Given the description of an element on the screen output the (x, y) to click on. 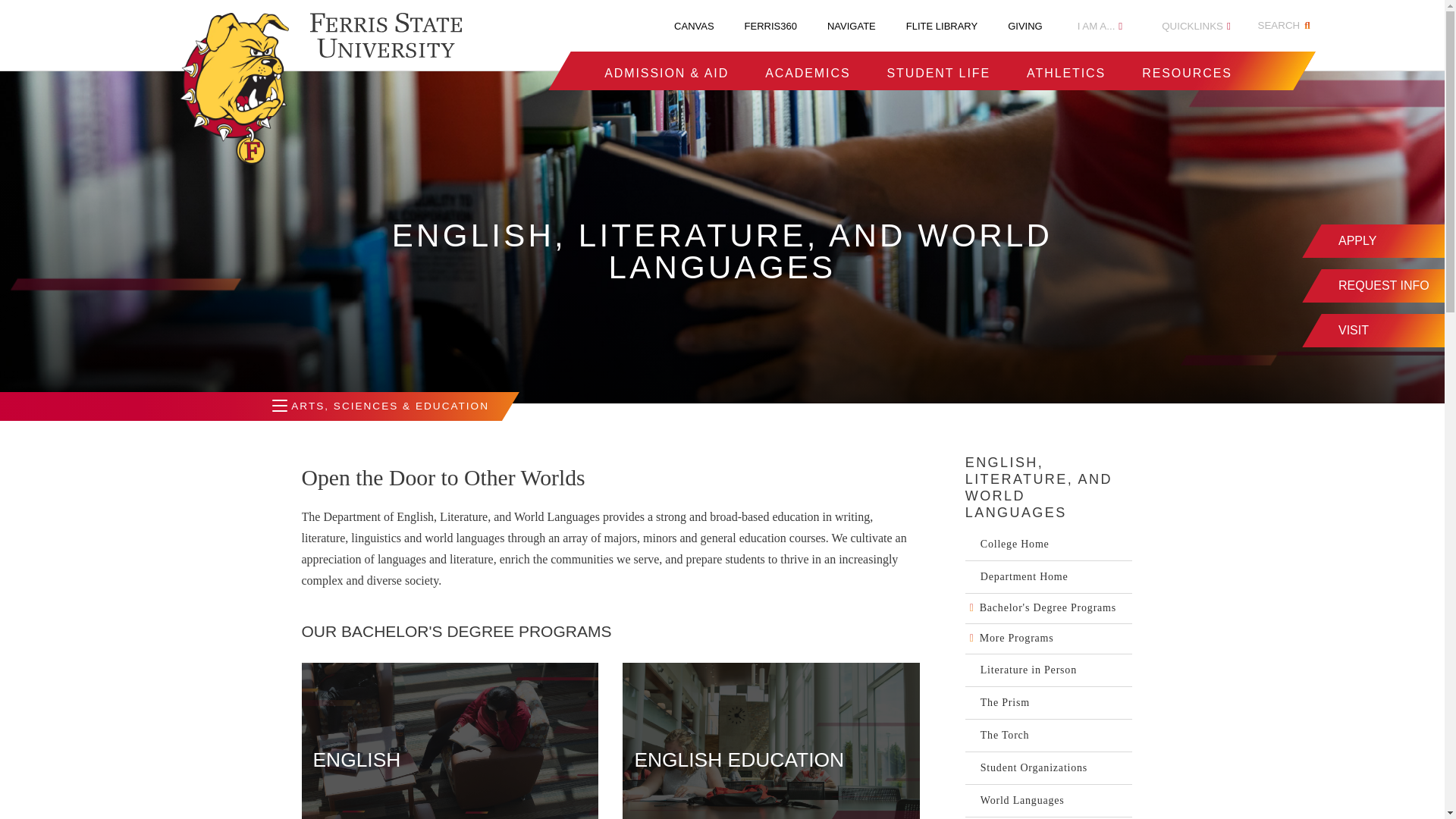
FERRIS360 (770, 25)
CANVAS (694, 25)
SEARCH (1285, 25)
ACADEMICS (807, 73)
NAVIGATE (851, 25)
GIVING (1024, 25)
I AM A... (1099, 26)
FLITE LIBRARY (940, 25)
QUICKLINKS (1195, 26)
